Given the description of an element on the screen output the (x, y) to click on. 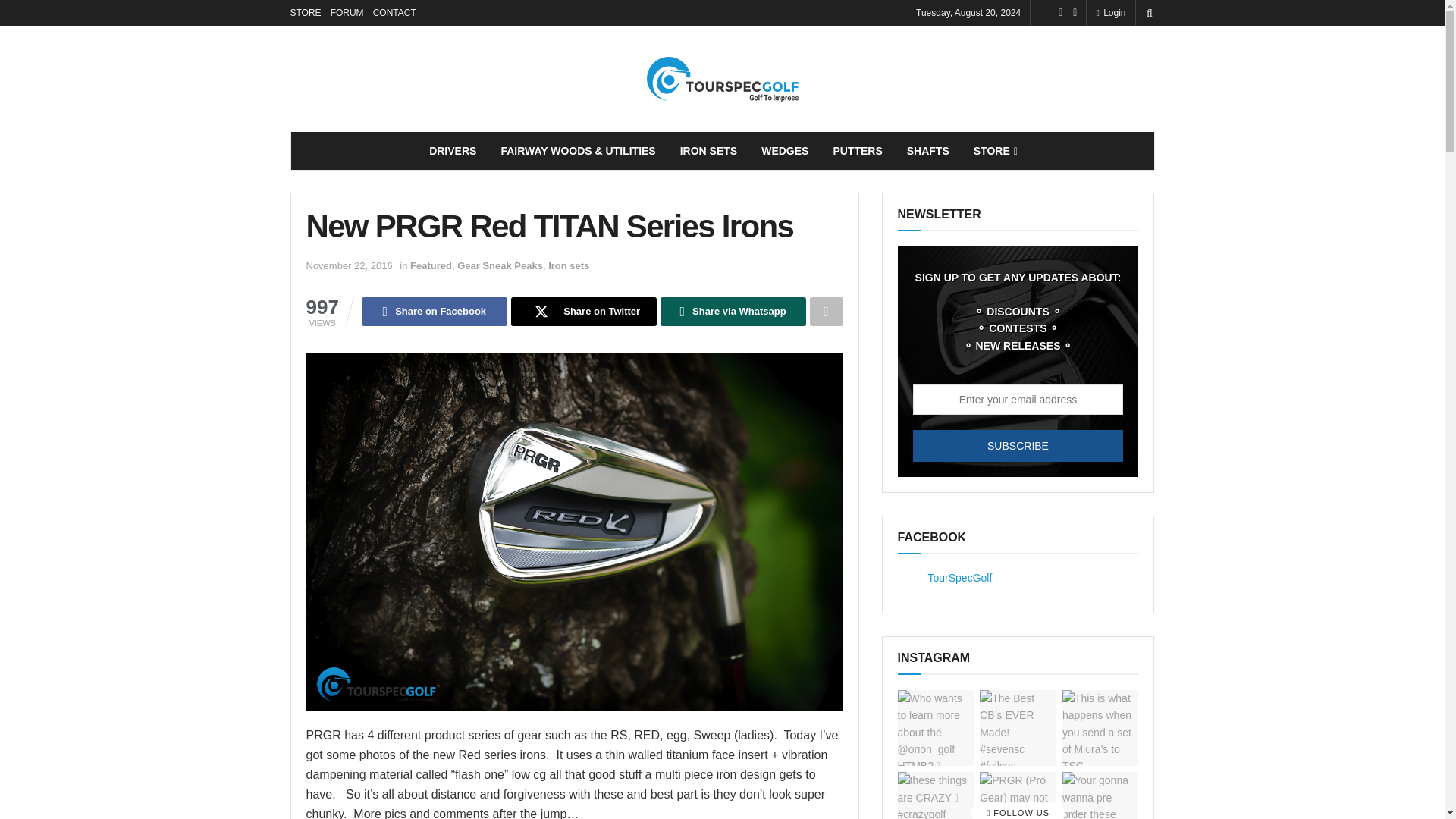
WEDGES (785, 150)
STORE (304, 12)
PUTTERS (857, 150)
Share on Twitter (583, 311)
Share on Facebook (433, 311)
November 22, 2016 (349, 265)
DRIVERS (451, 150)
IRON SETS (708, 150)
Featured (430, 265)
Share via Whatsapp (733, 311)
